Given the description of an element on the screen output the (x, y) to click on. 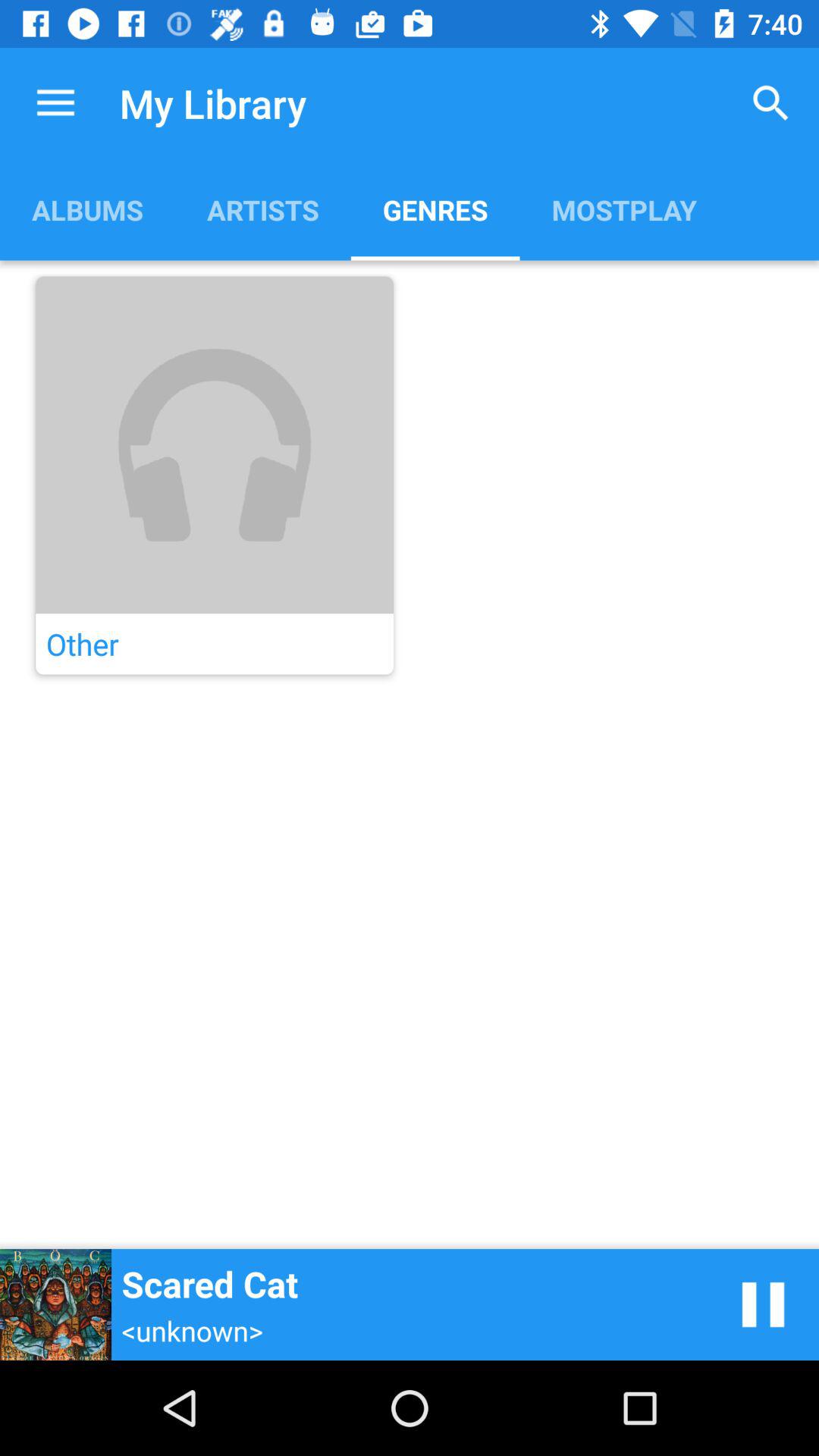
turn on item next to genres app (771, 103)
